Given the description of an element on the screen output the (x, y) to click on. 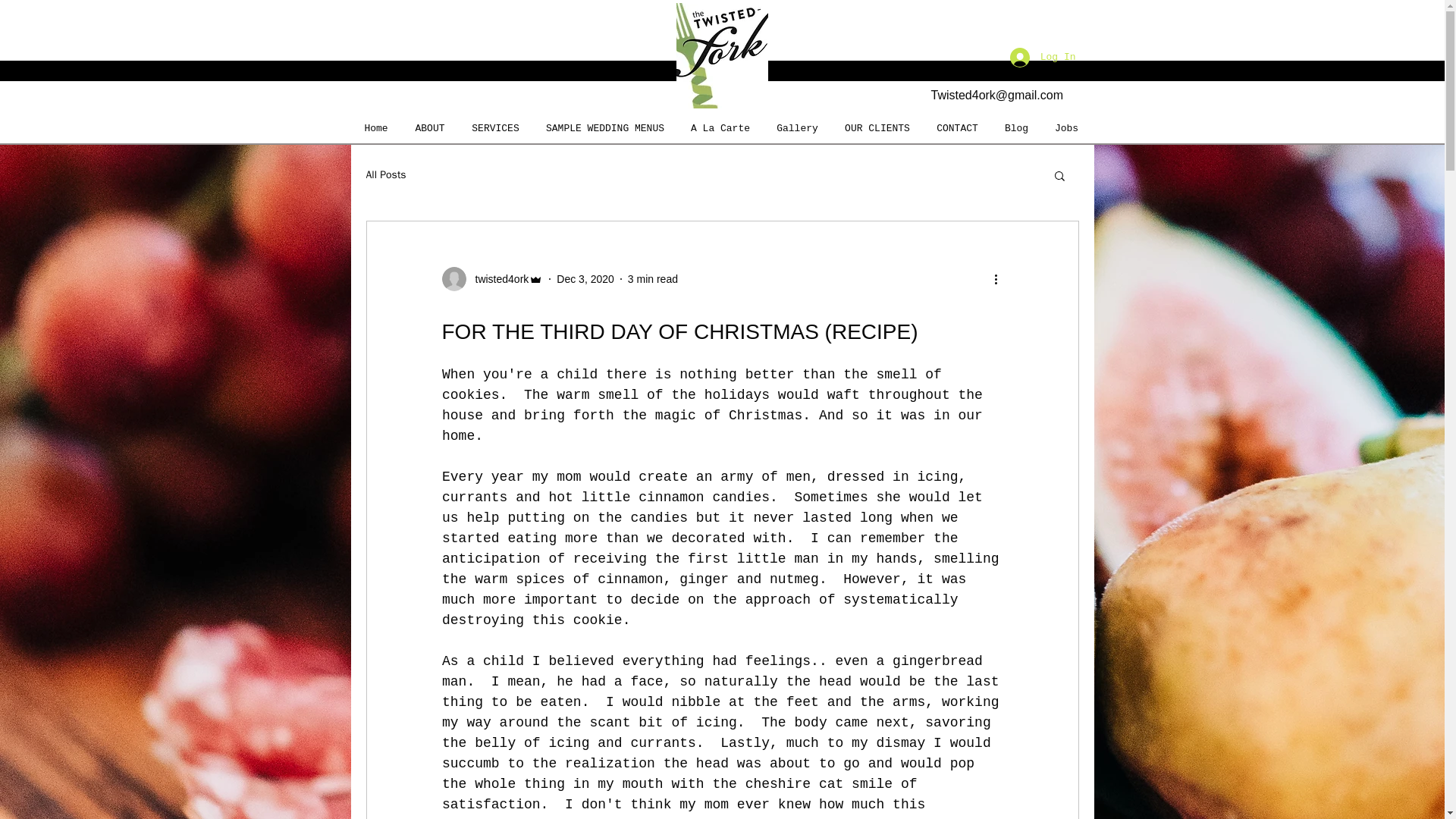
CONTACT (957, 128)
A La Carte (720, 128)
ABOUT (429, 128)
All Posts (385, 174)
Gallery (796, 128)
Blog (1016, 128)
Jobs (1067, 128)
Dec 3, 2020 (585, 278)
3 min read (652, 278)
Log In (1042, 57)
twisted4ork (492, 278)
twisted4ork (496, 279)
Home (375, 128)
SAMPLE WEDDING MENUS (604, 128)
OUR CLIENTS (877, 128)
